Given the description of an element on the screen output the (x, y) to click on. 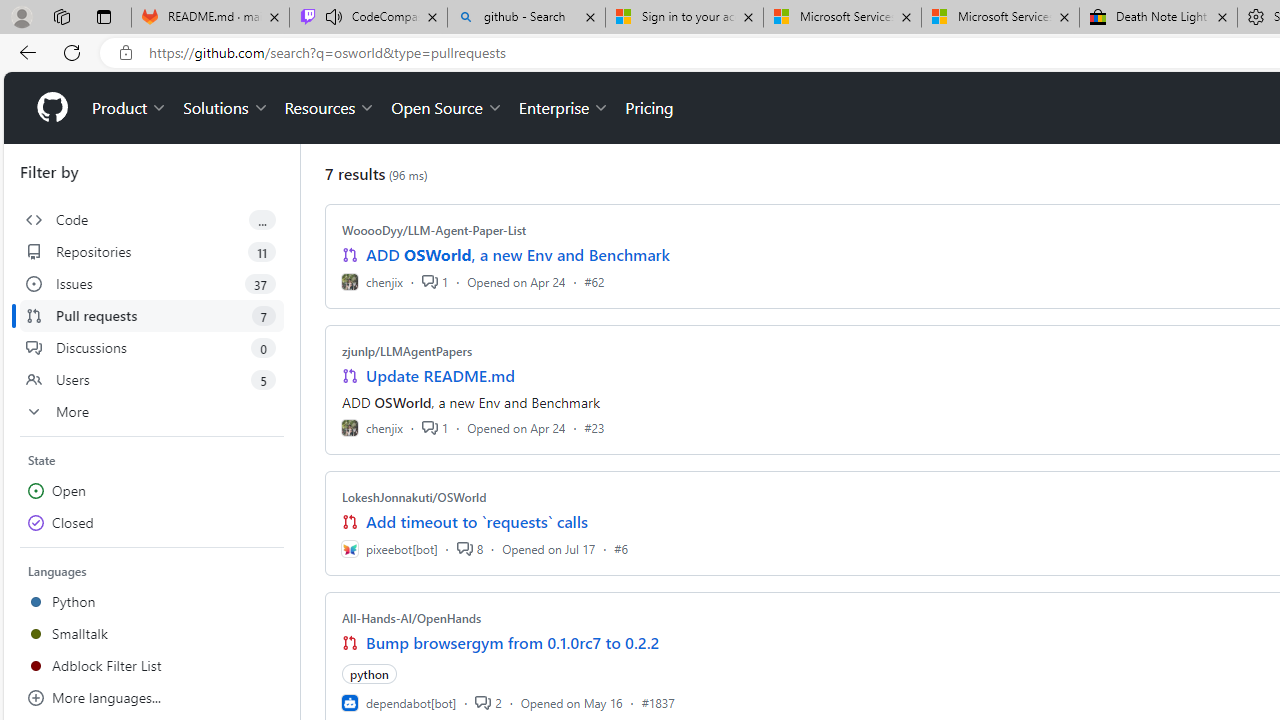
Product (130, 107)
Add timeout to `requests` calls (476, 521)
Open Source (446, 107)
Enterprise (563, 107)
chenjix (372, 427)
Pricing (649, 107)
Open Source (446, 107)
zjunlp/LLMAgentPapers (407, 351)
